Given the description of an element on the screen output the (x, y) to click on. 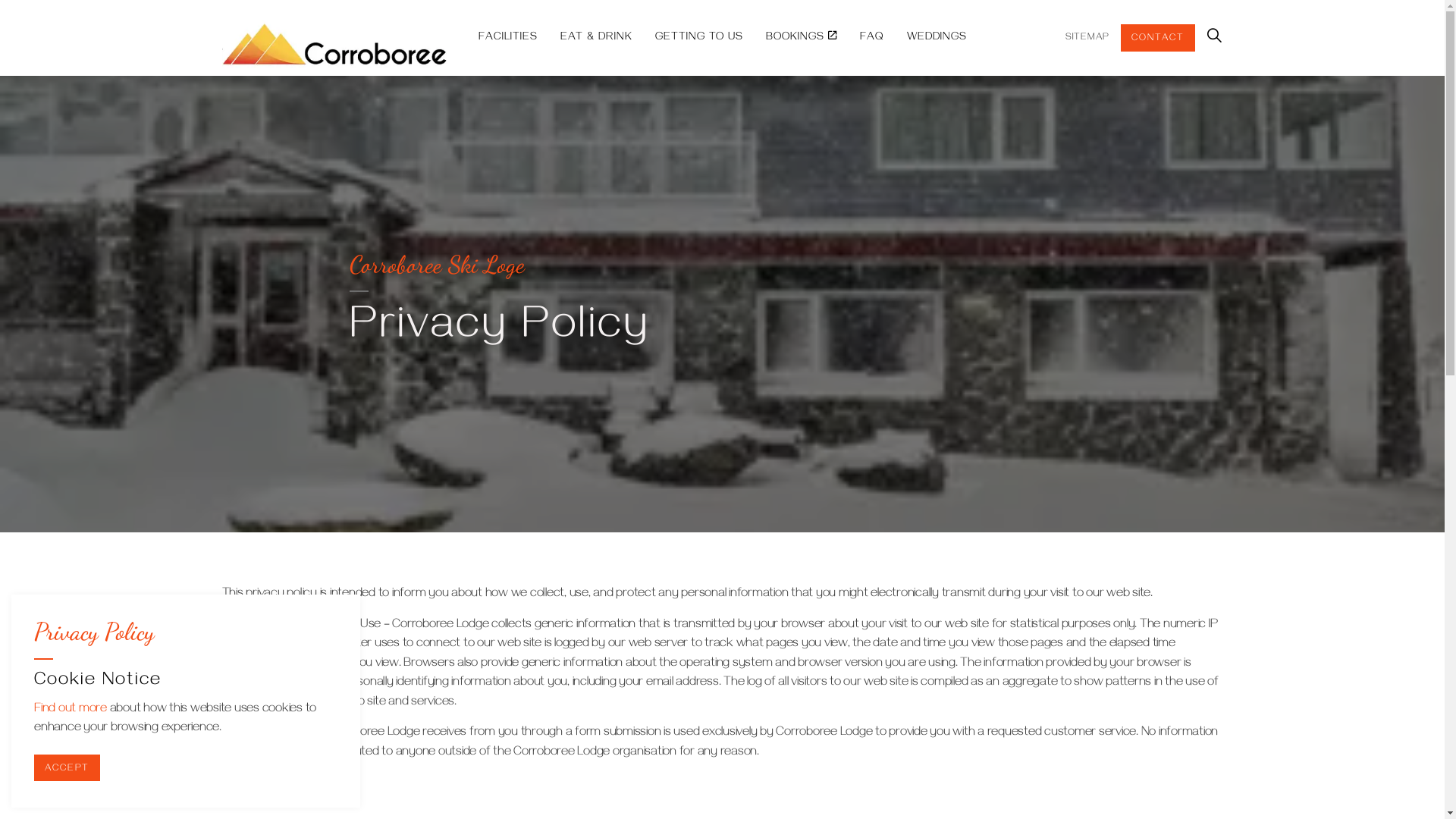
ACCEPT Element type: text (67, 767)
FACILITIES Element type: text (508, 37)
FAQ Element type: text (870, 37)
EAT & DRINK Element type: text (596, 37)
SITEMAP Element type: text (1086, 37)
WEDDINGS Element type: text (935, 37)
BOOKINGS Element type: text (800, 37)
CONTACT Element type: text (1157, 37)
Find out more Element type: text (70, 709)
Corroboree Element type: hover (403, 37)
GETTING TO US Element type: text (698, 37)
